Given the description of an element on the screen output the (x, y) to click on. 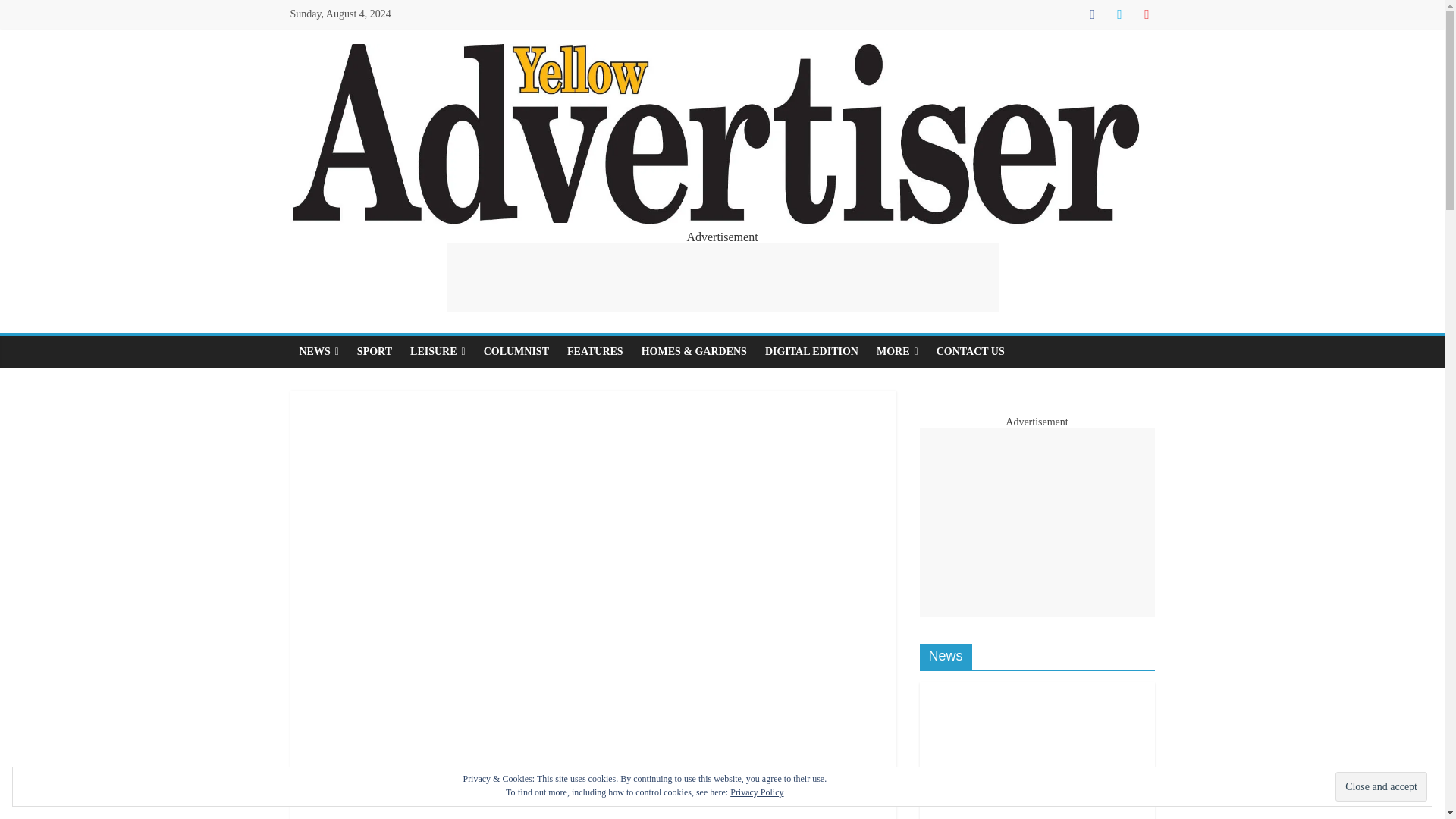
MORE (897, 351)
NEWS (318, 351)
LEISURE (437, 351)
FEATURES (594, 351)
Close and accept (1380, 786)
DIGITAL EDITION (811, 351)
SPORT (374, 351)
COLUMNIST (515, 351)
